Given the description of an element on the screen output the (x, y) to click on. 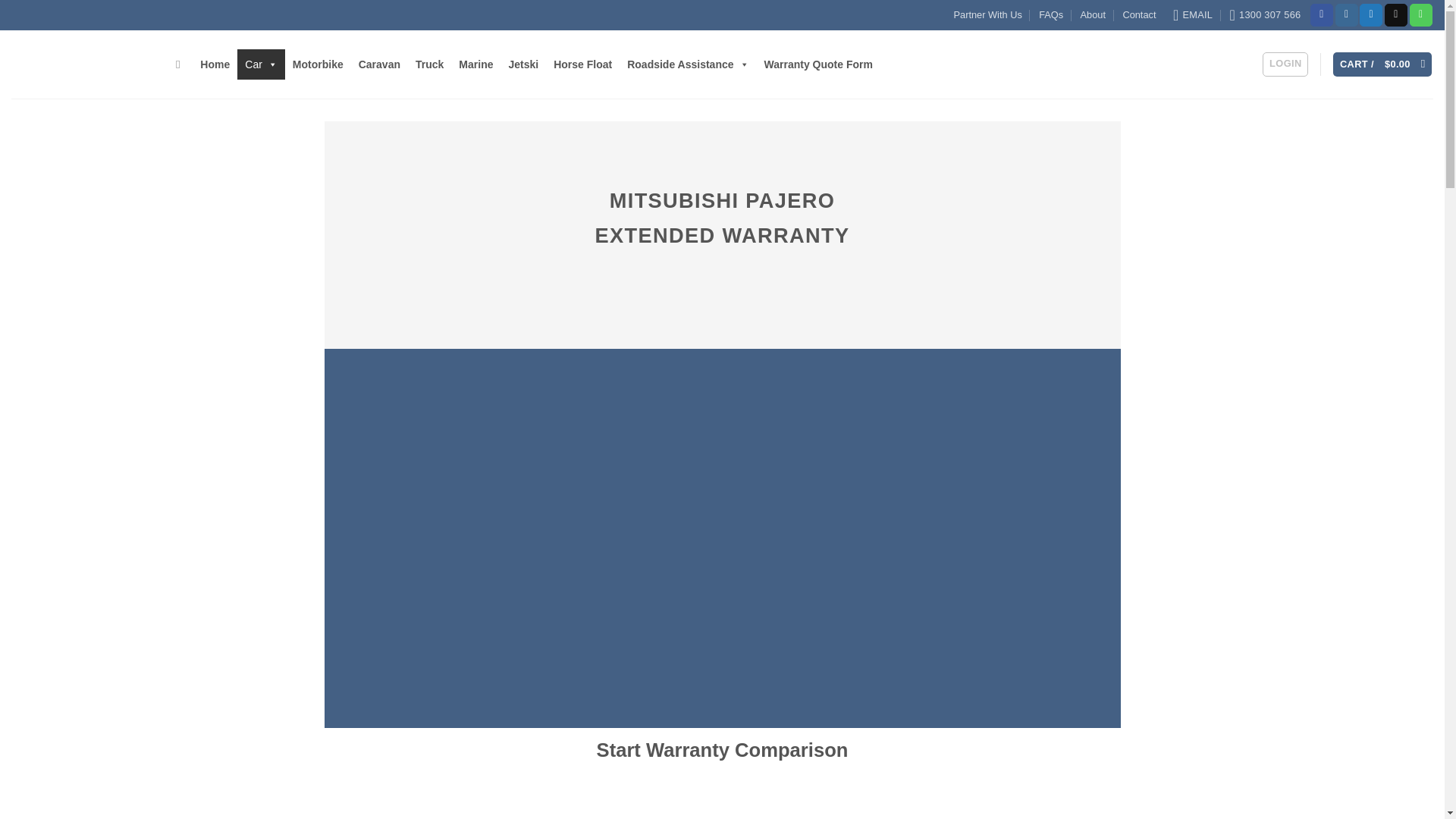
Horse Float (583, 64)
1300 307 566 (1265, 14)
Motorbike (317, 64)
Truck (429, 64)
Follow on Instagram (1346, 15)
Car (261, 64)
Follow on Facebook (1321, 15)
Call us (1420, 15)
Send us an email (1395, 15)
Home (214, 64)
Contact (1139, 15)
Follow on Twitter (1370, 15)
Caravan (378, 64)
Login (1284, 64)
Roadside Assistance (687, 64)
